Given the description of an element on the screen output the (x, y) to click on. 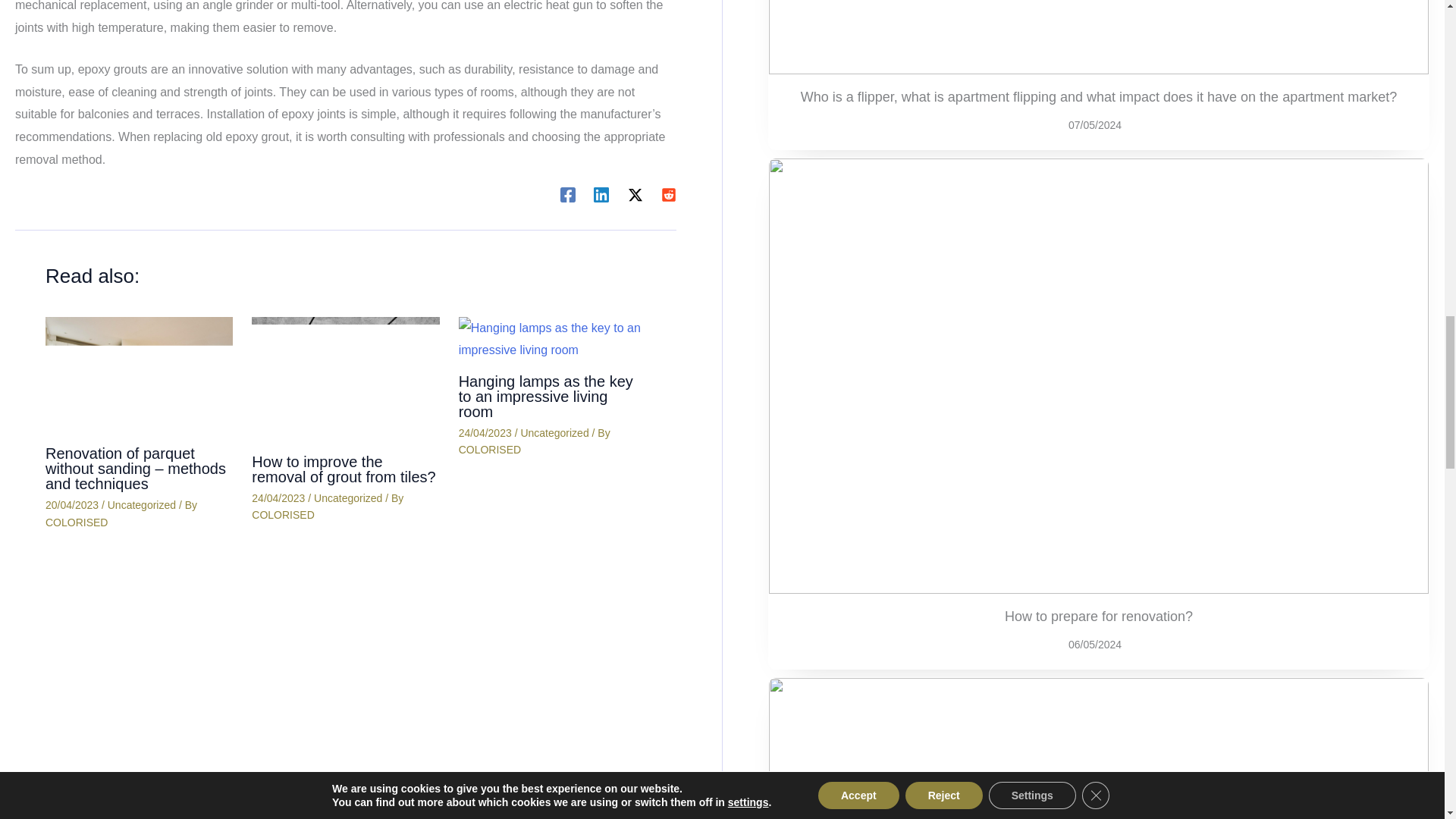
View all posts by COLORISED (76, 522)
View all posts by COLORISED (489, 449)
View all posts by COLORISED (282, 514)
